Given the description of an element on the screen output the (x, y) to click on. 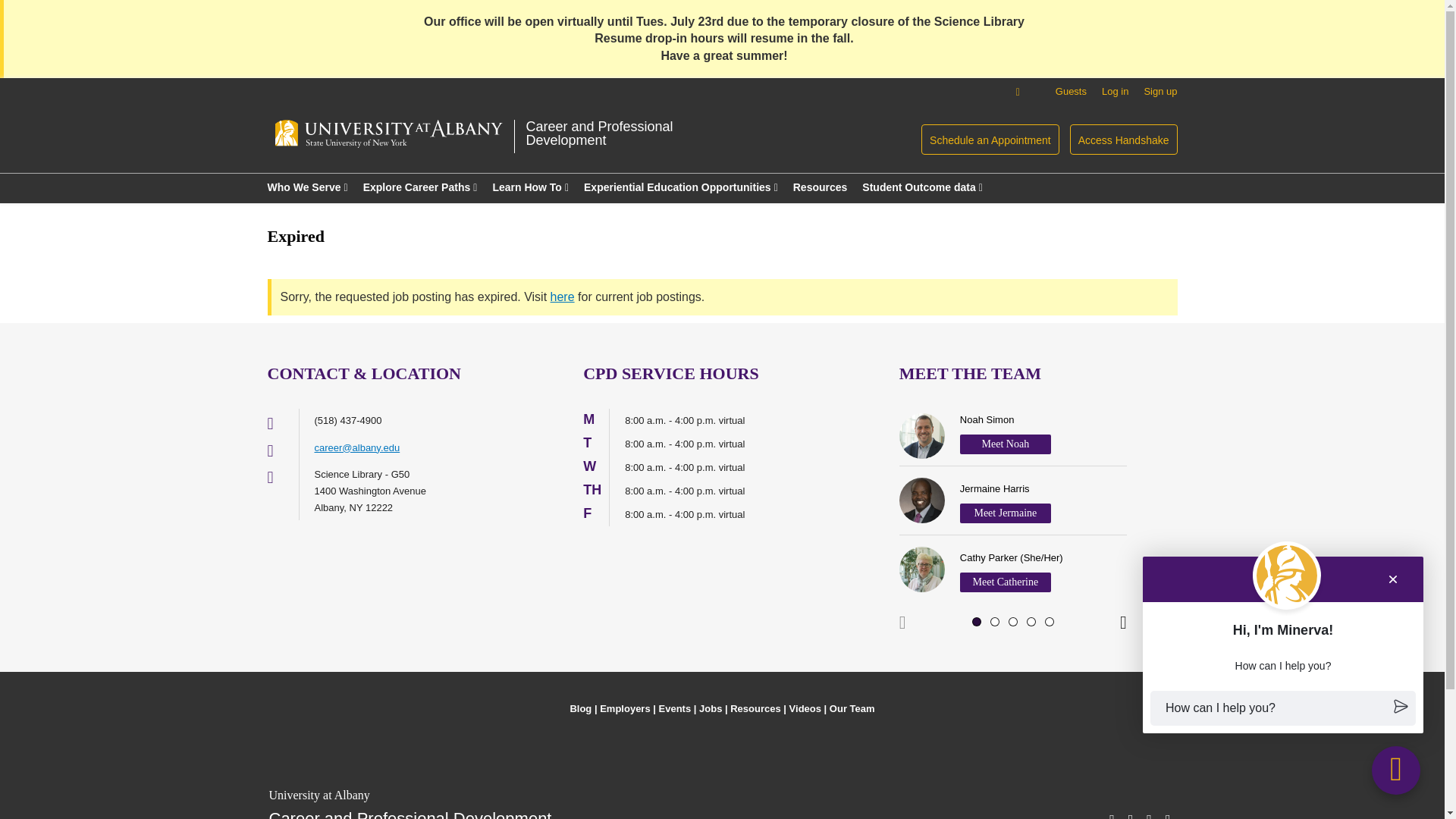
Facebook (1111, 813)
Submit Search (38, 9)
Sign up (1159, 90)
Guests (1070, 90)
Instagram (1130, 813)
Access Handshake (1123, 139)
Explore Career Paths (419, 186)
Schedule an Appointment (990, 139)
Log in to the guest contributors portal (1070, 90)
LinkedIn (598, 133)
Sign up for an account (1149, 813)
Who We Serve (1159, 90)
Log in (307, 186)
